Given the description of an element on the screen output the (x, y) to click on. 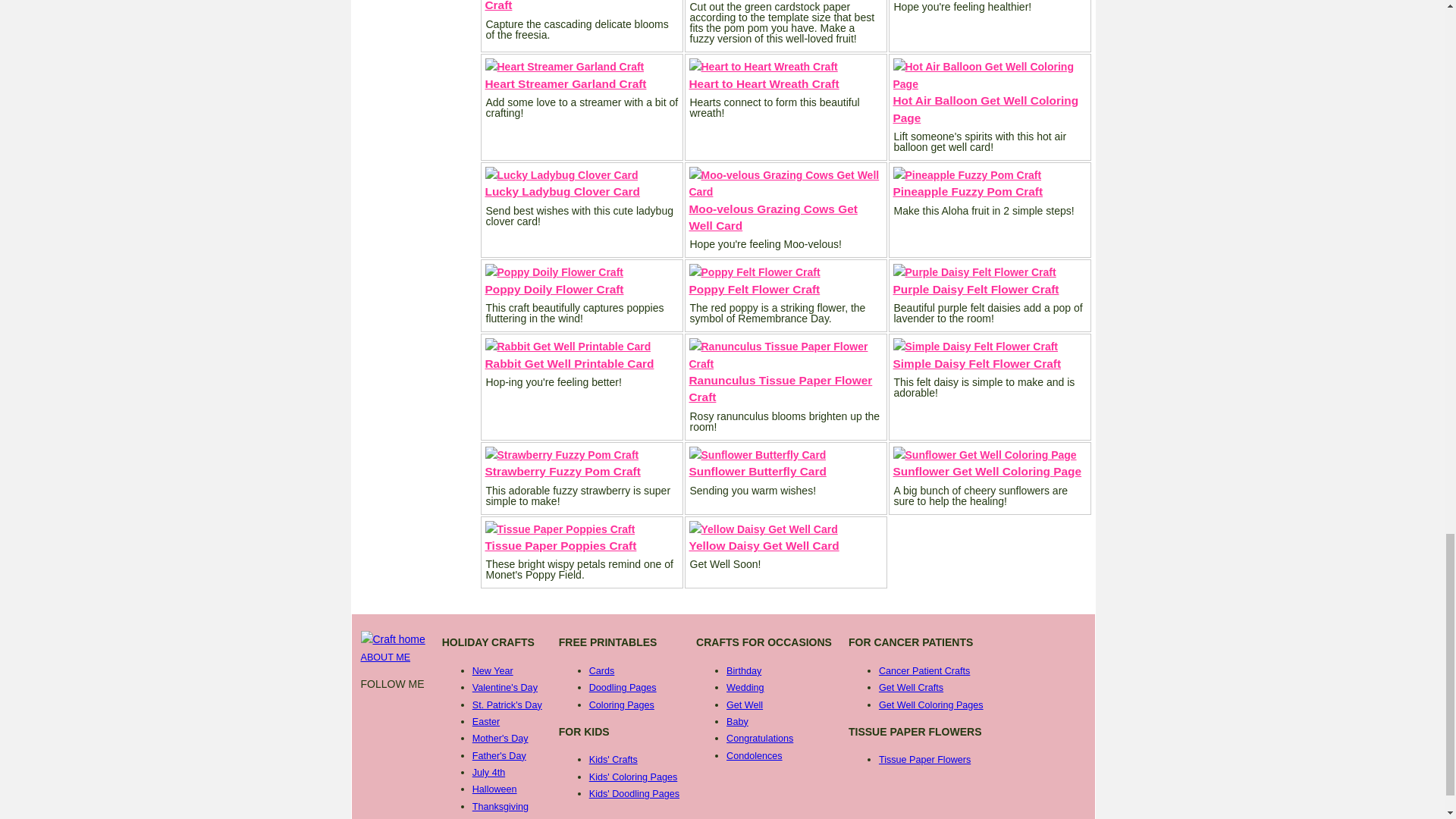
LittleMissCraft.com (393, 639)
About (385, 656)
